Given the description of an element on the screen output the (x, y) to click on. 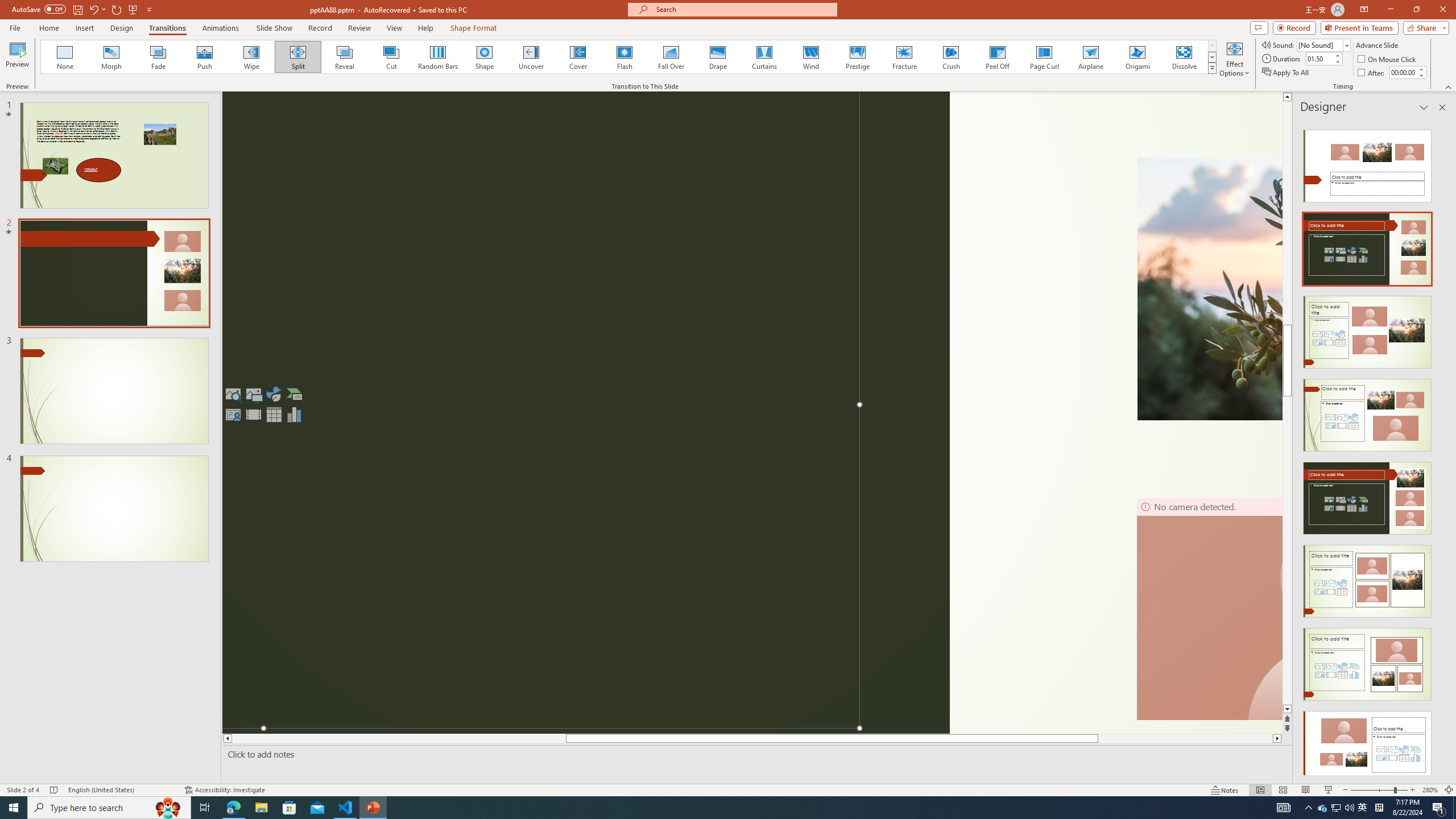
Reveal (344, 56)
None (65, 56)
Push (205, 56)
Morph (111, 56)
Fall Over (670, 56)
Line up (1287, 96)
Class: NetUIScrollBar (1441, 447)
Open (1345, 44)
Insert a SmartArt Graphic (294, 393)
